Given the description of an element on the screen output the (x, y) to click on. 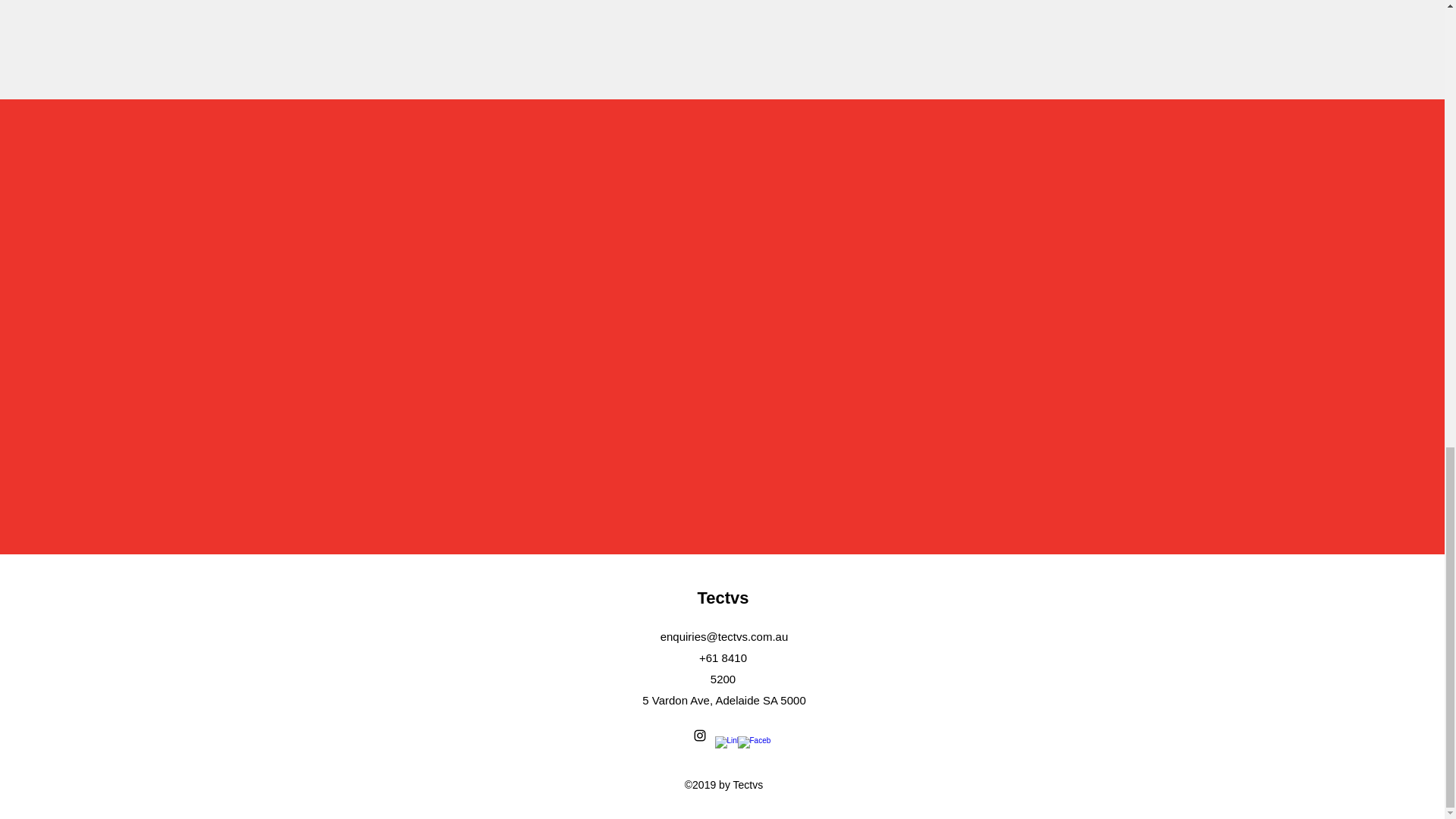
Tectvs (722, 597)
